Given the description of an element on the screen output the (x, y) to click on. 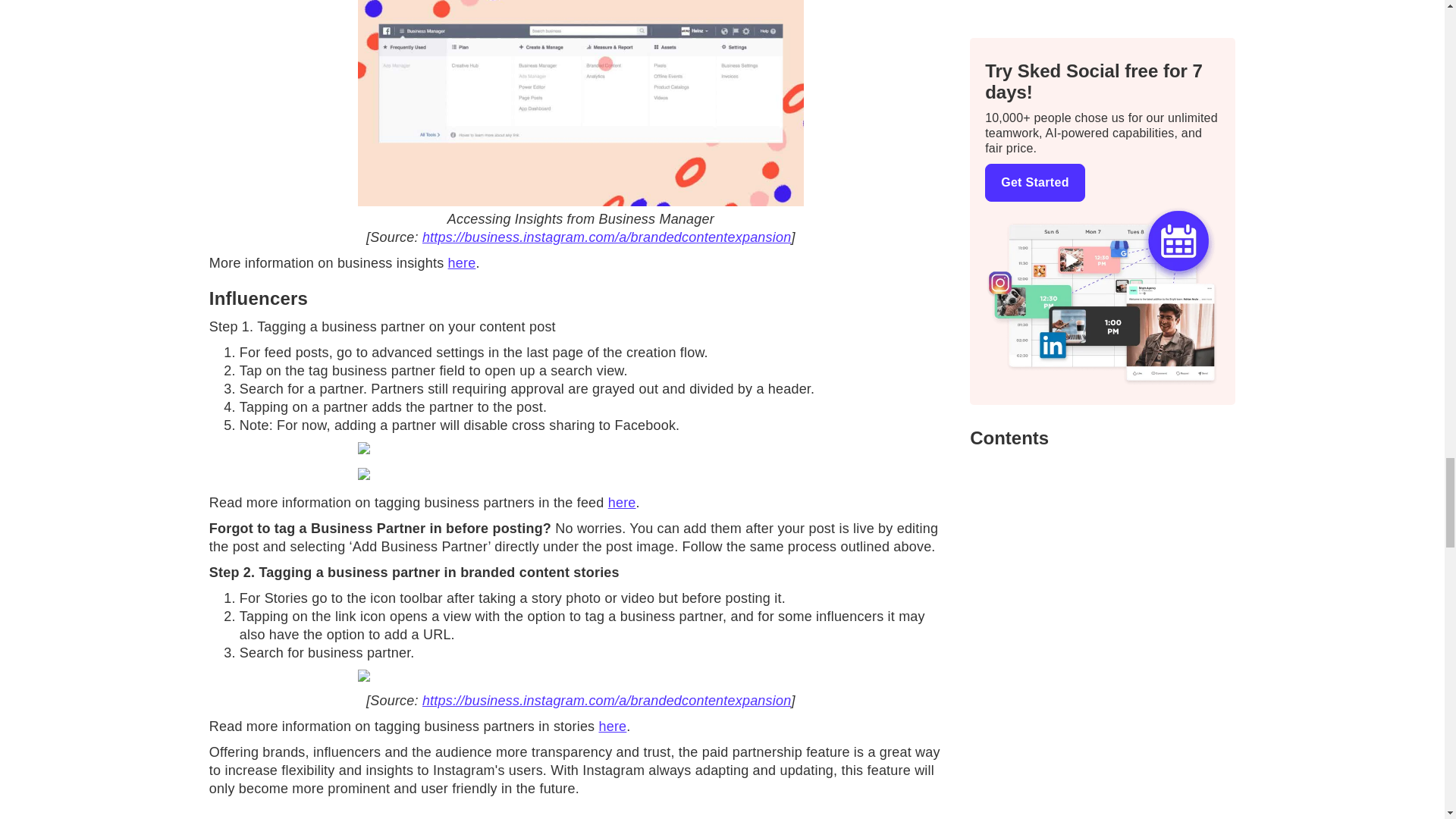
here (612, 726)
here (622, 501)
here (462, 262)
